Given the description of an element on the screen output the (x, y) to click on. 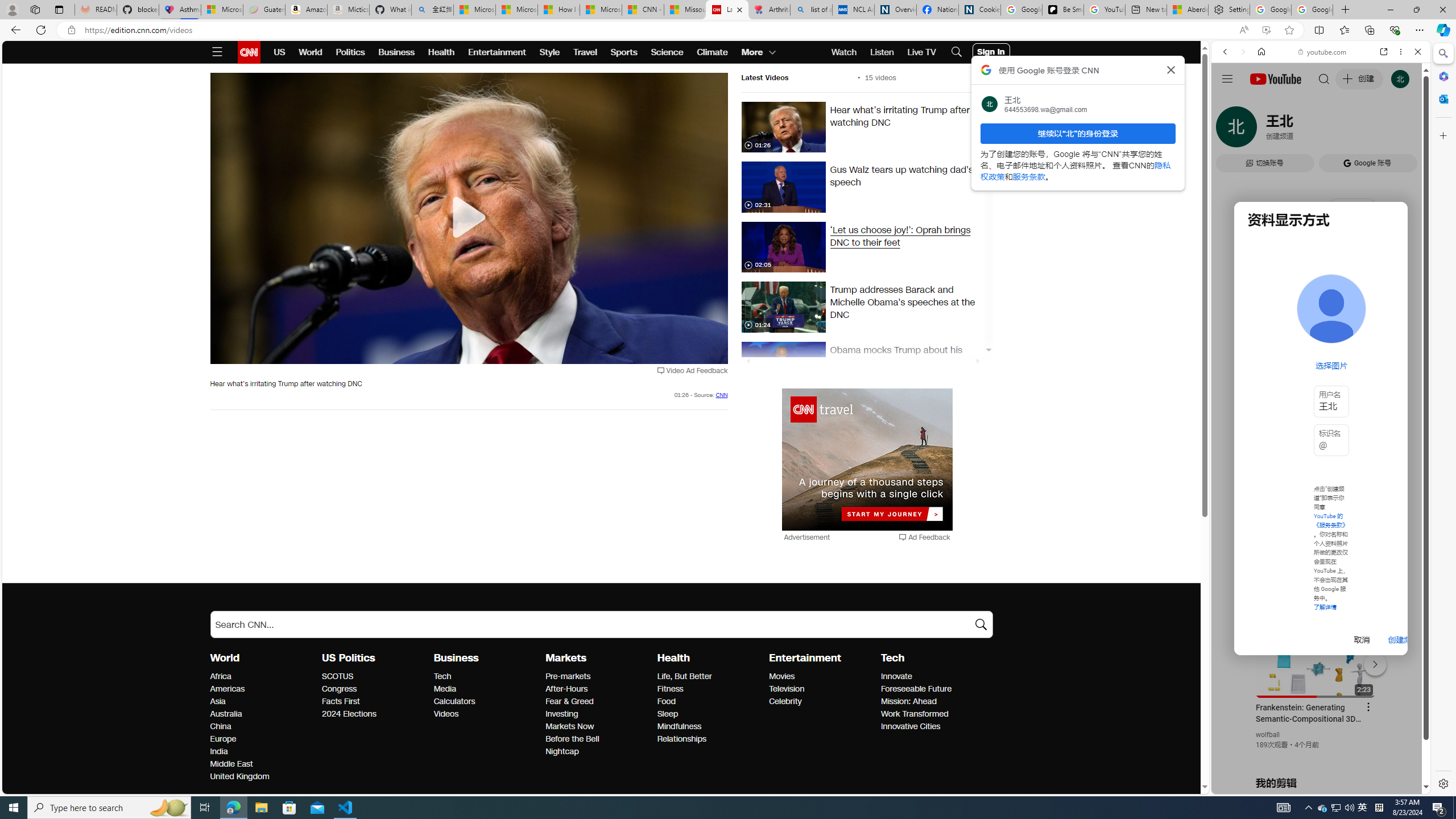
Submit (980, 624)
wolfball (1268, 734)
Sleep (709, 714)
Congress (373, 688)
Business Calculators (454, 701)
Europe (262, 739)
